Given the description of an element on the screen output the (x, y) to click on. 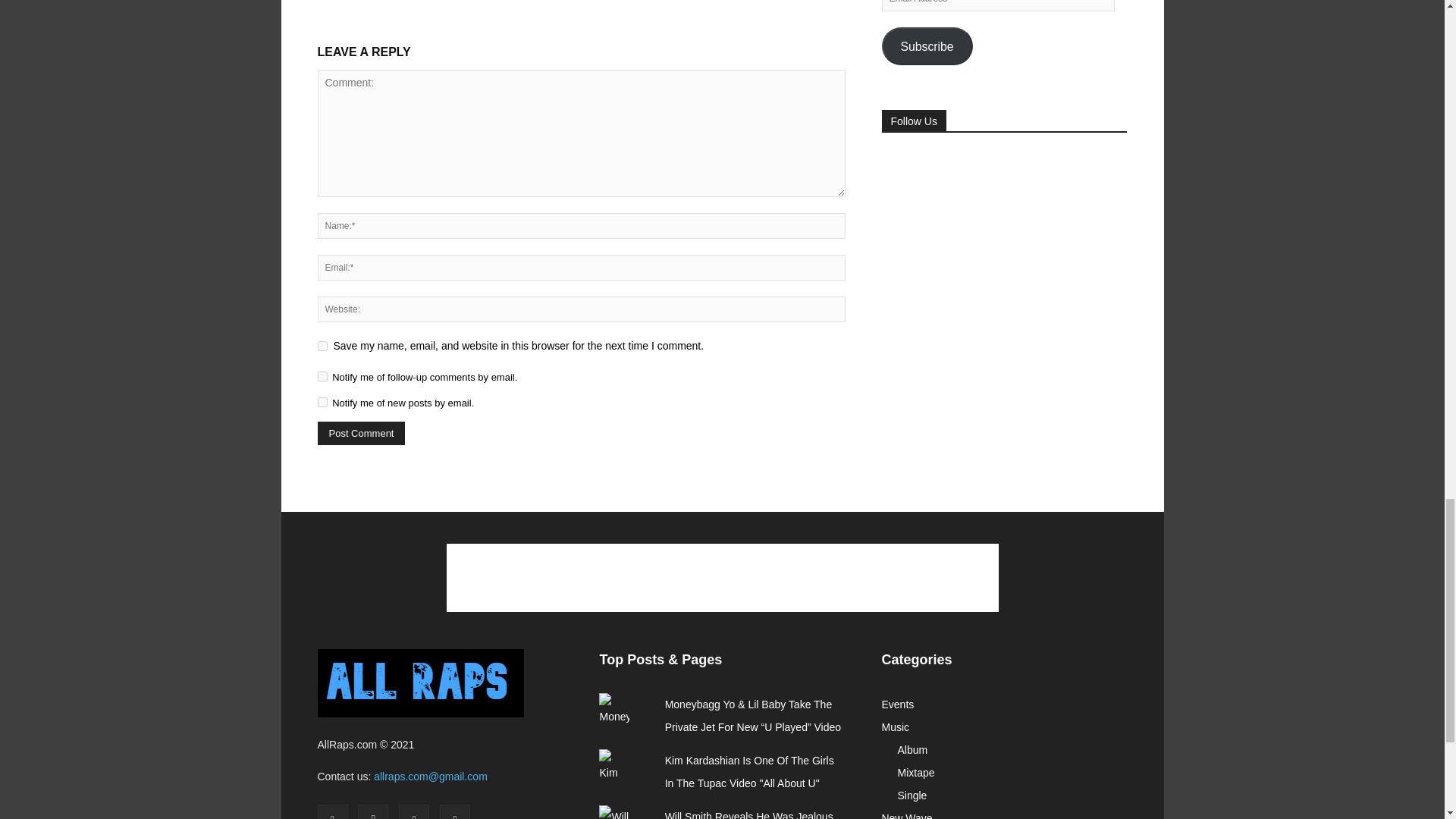
yes (321, 346)
Post Comment (360, 433)
subscribe (321, 376)
subscribe (321, 402)
